Given the description of an element on the screen output the (x, y) to click on. 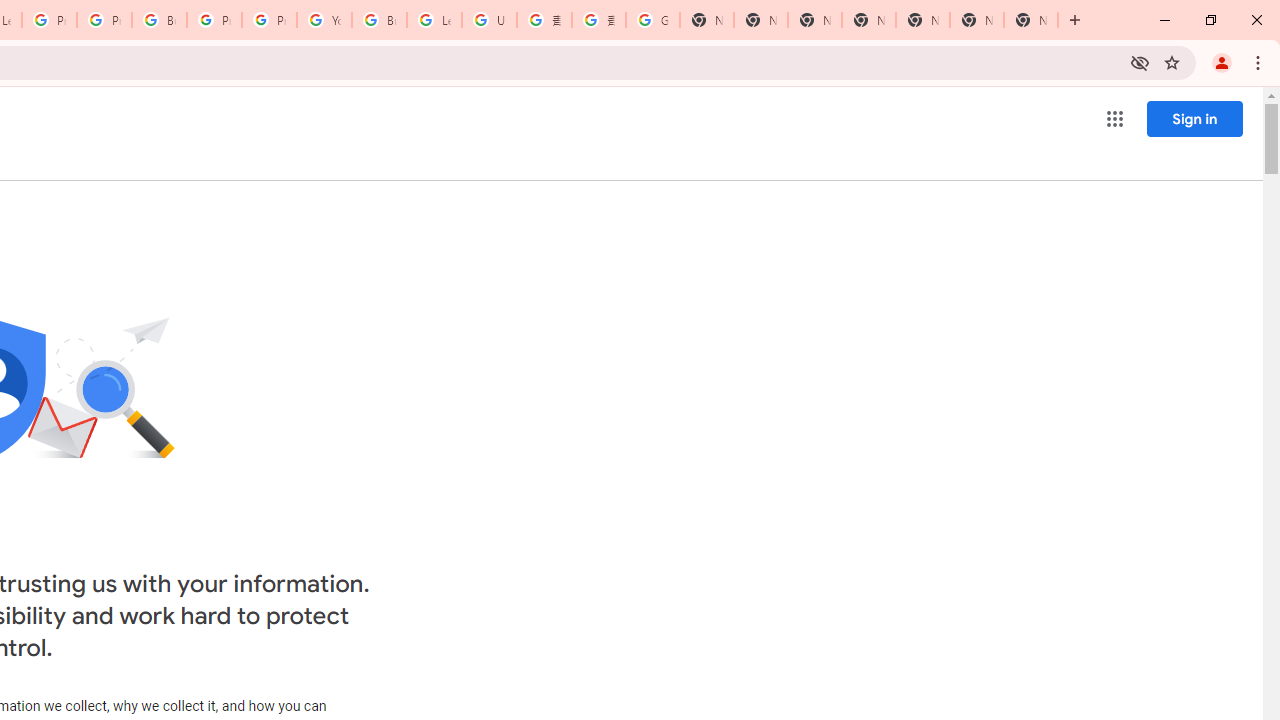
New Tab (868, 20)
Privacy Help Center - Policies Help (48, 20)
YouTube (324, 20)
Privacy Help Center - Policies Help (103, 20)
